Given the description of an element on the screen output the (x, y) to click on. 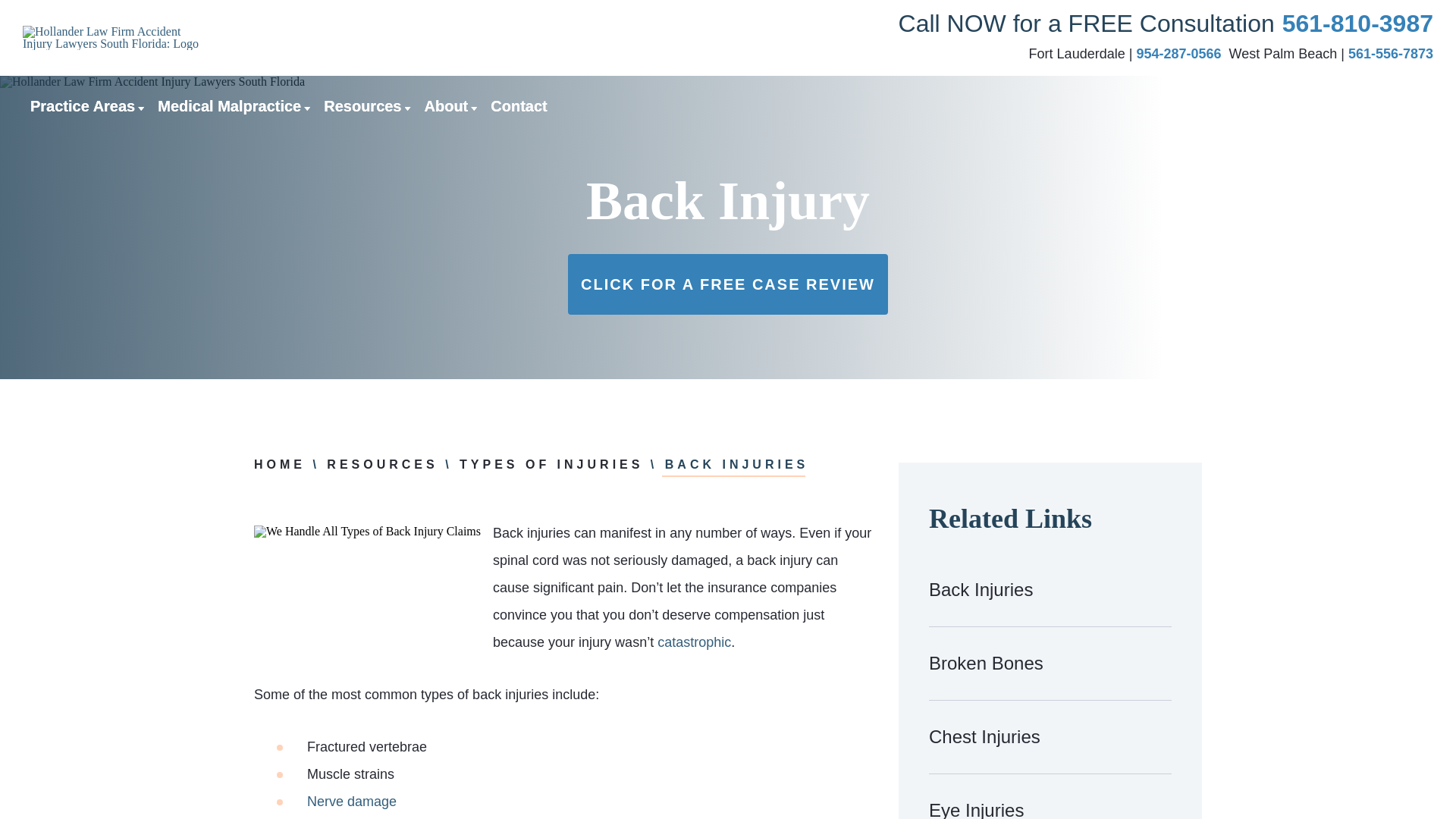
561-556-7873 (1390, 53)
Medical Malpractice (229, 105)
Contact (518, 105)
About (446, 105)
Practice Areas (82, 105)
Resources (362, 105)
954-287-0566 (1178, 53)
561-810-3987 (1357, 24)
